Given the description of an element on the screen output the (x, y) to click on. 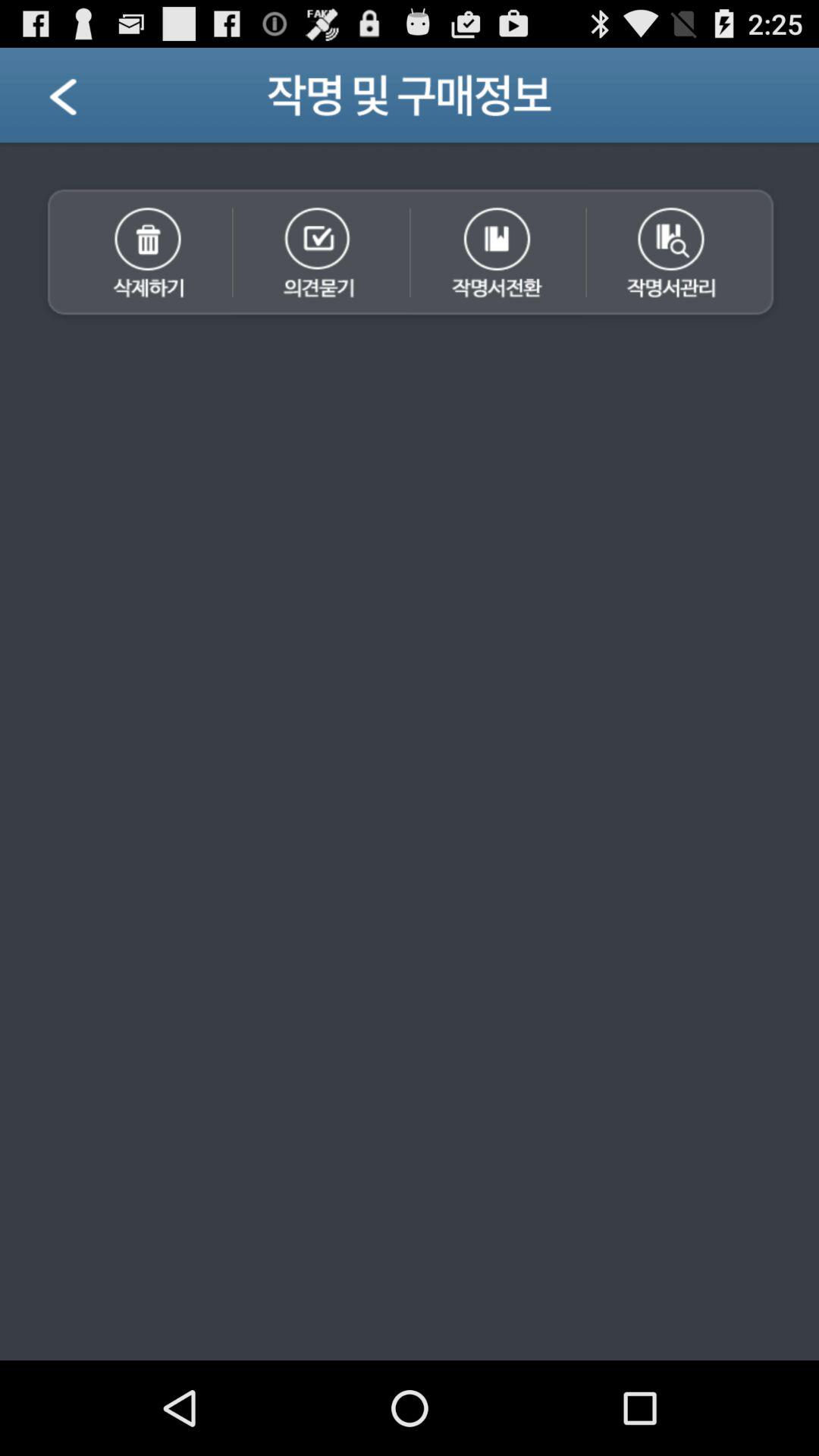
go to user profile (81, 101)
